Given the description of an element on the screen output the (x, y) to click on. 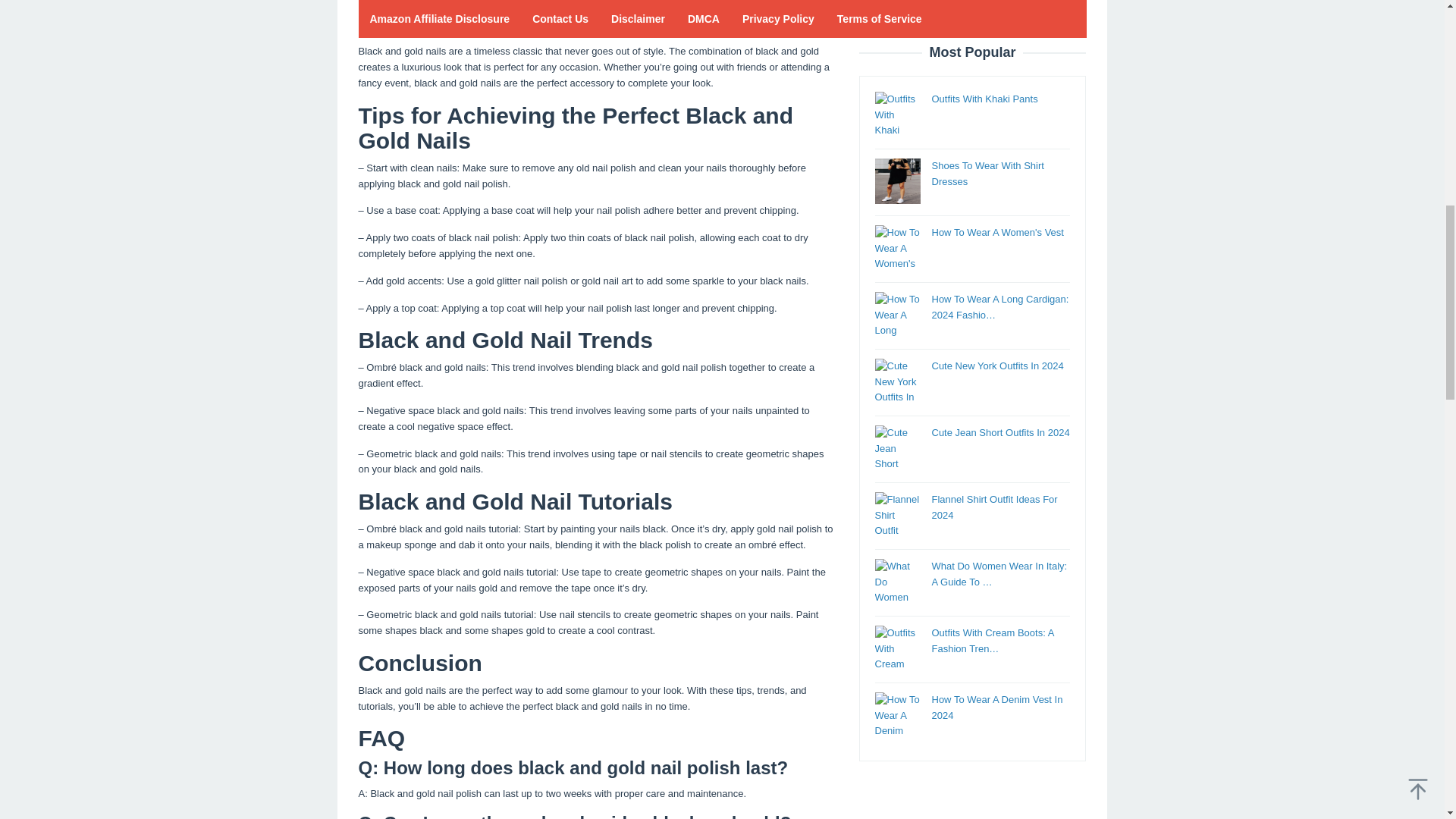
How To Wear A Denim Vest In 2024 (996, 20)
